Given the description of an element on the screen output the (x, y) to click on. 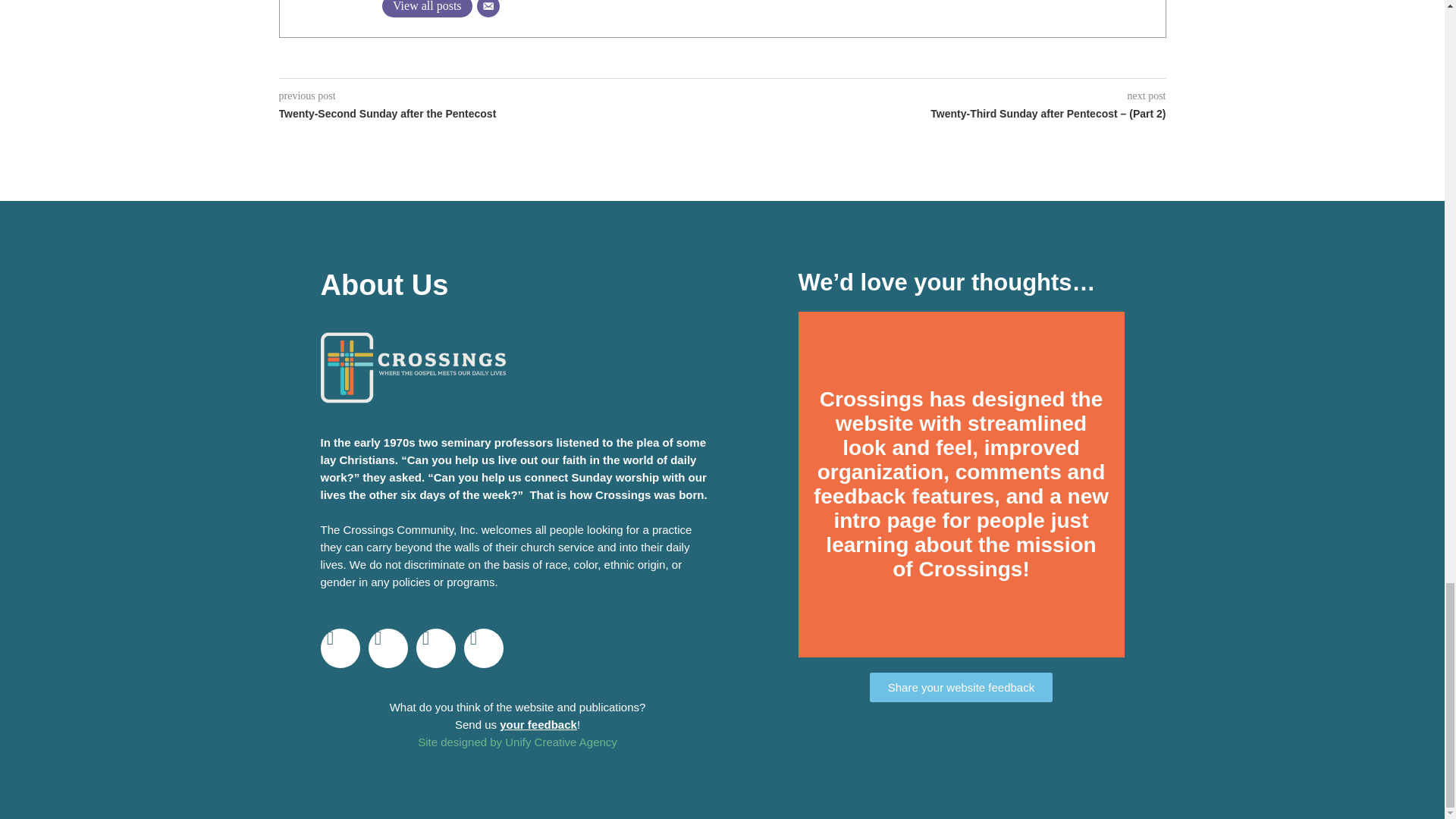
View all posts (426, 8)
